Given the description of an element on the screen output the (x, y) to click on. 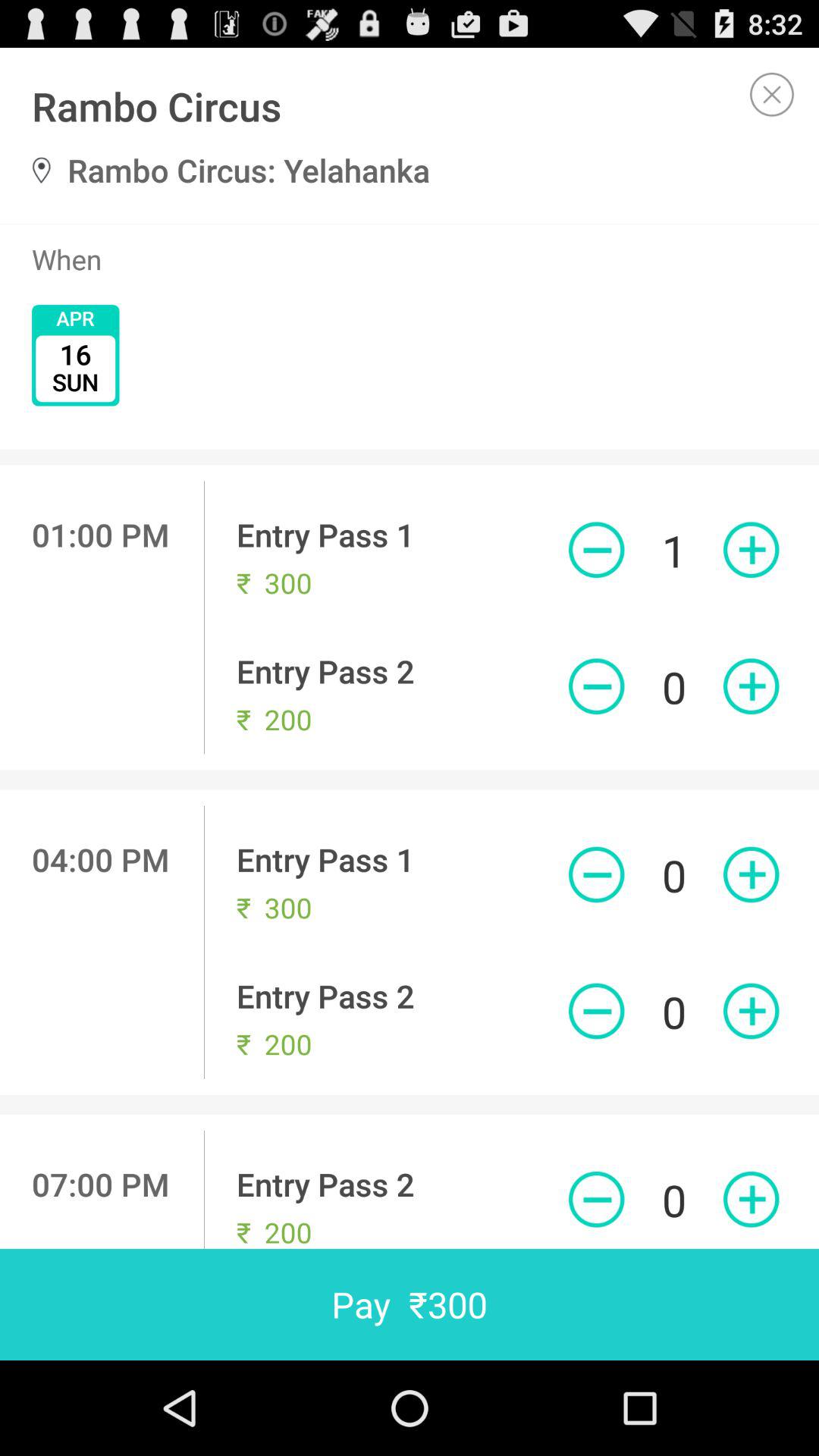
toggle number of passes (596, 549)
